Given the description of an element on the screen output the (x, y) to click on. 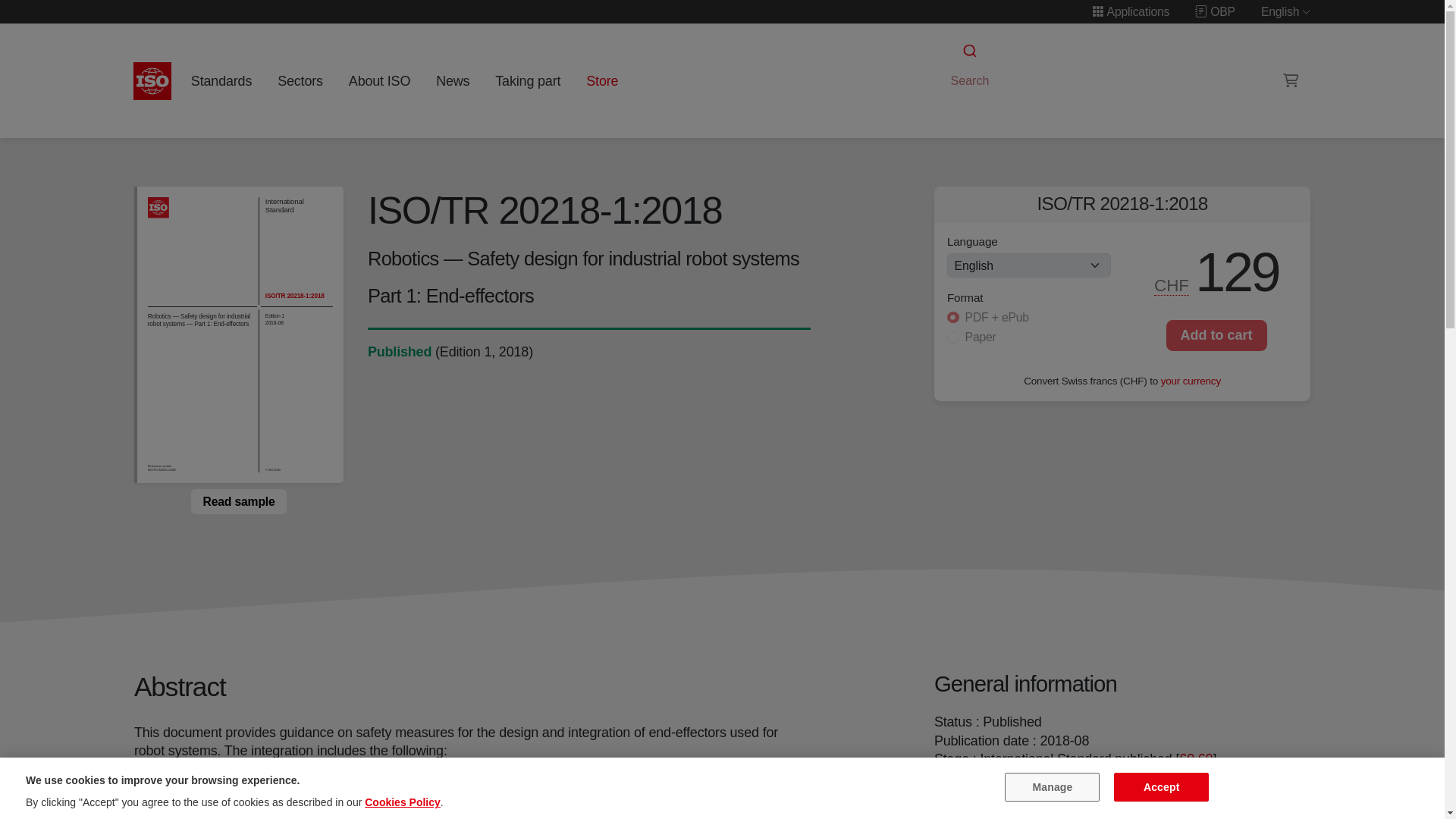
Store (601, 80)
60.60 (1195, 758)
Add to cart (1216, 335)
ISO's applications portal (1130, 11)
Taking part (528, 80)
Life cycle (398, 351)
Standards (220, 80)
Online Browsing Platform (1214, 11)
International Organization for Standardization (152, 80)
Submit (968, 51)
Swiss francs (1171, 285)
